Given the description of an element on the screen output the (x, y) to click on. 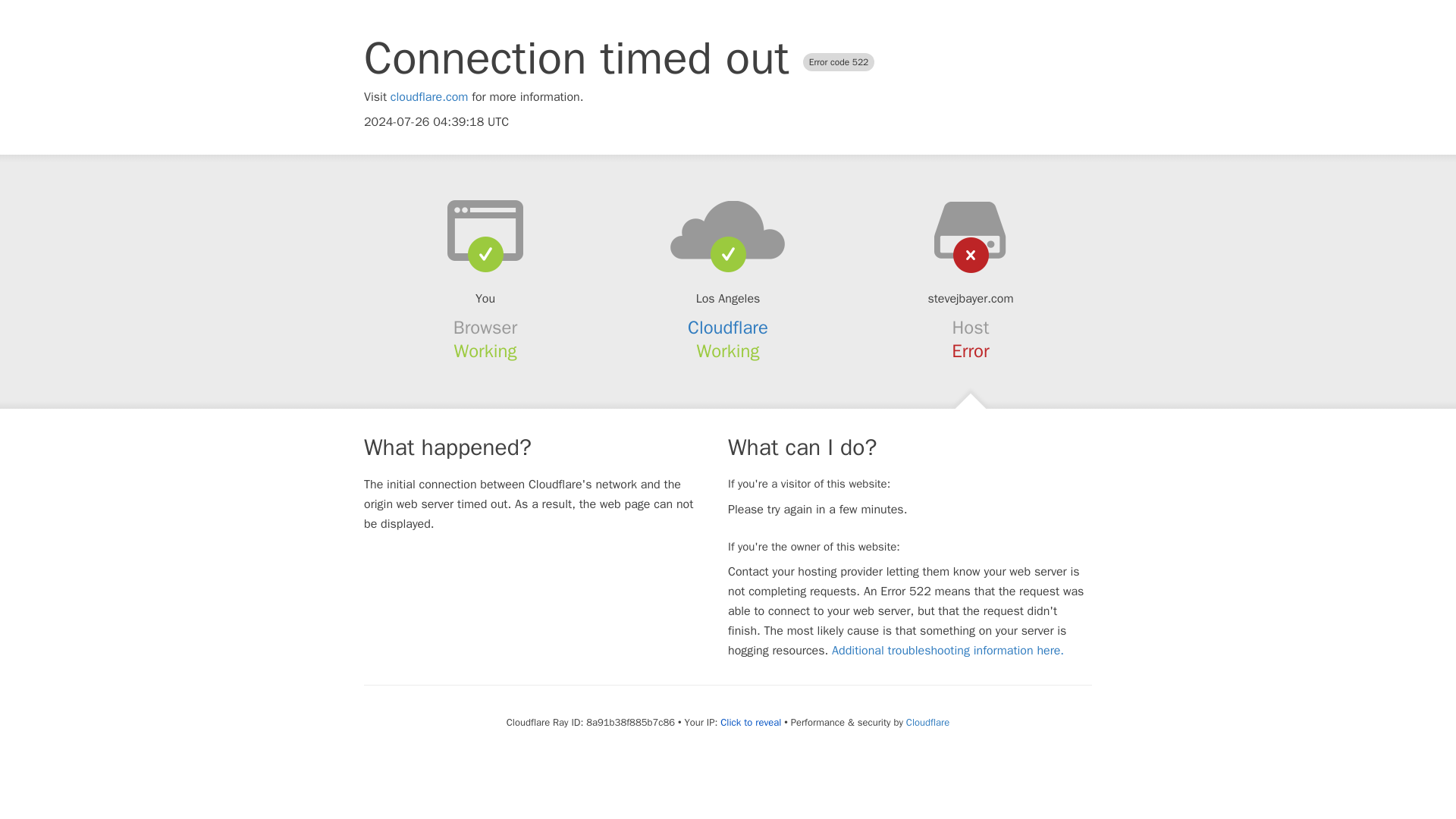
Additional troubleshooting information here. (947, 650)
Click to reveal (750, 722)
Cloudflare (927, 721)
cloudflare.com (429, 96)
Cloudflare (727, 327)
